Given the description of an element on the screen output the (x, y) to click on. 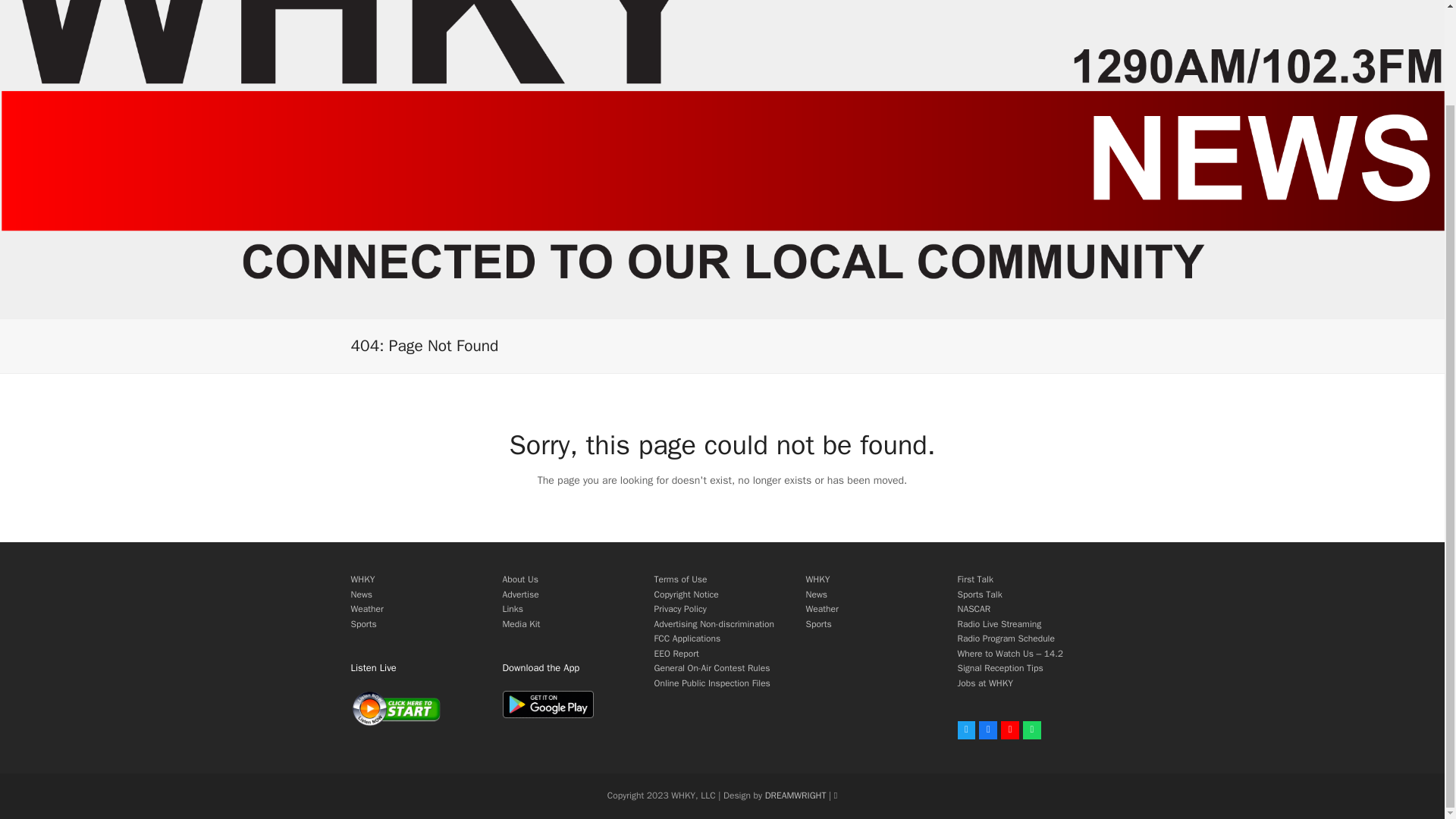
Advertising Non-discrimination (713, 623)
WHKY (362, 579)
Sports (818, 623)
Twitter (965, 730)
Weather (366, 608)
WHKY (817, 579)
Jobs at WHKY (983, 683)
First Talk (974, 579)
FCC Applications (686, 638)
DREAMWRIGHT web design (796, 795)
Youtube (1010, 730)
Sports Talk (978, 594)
Listen Live (395, 708)
News (816, 594)
Copyright Notice (685, 594)
